Given the description of an element on the screen output the (x, y) to click on. 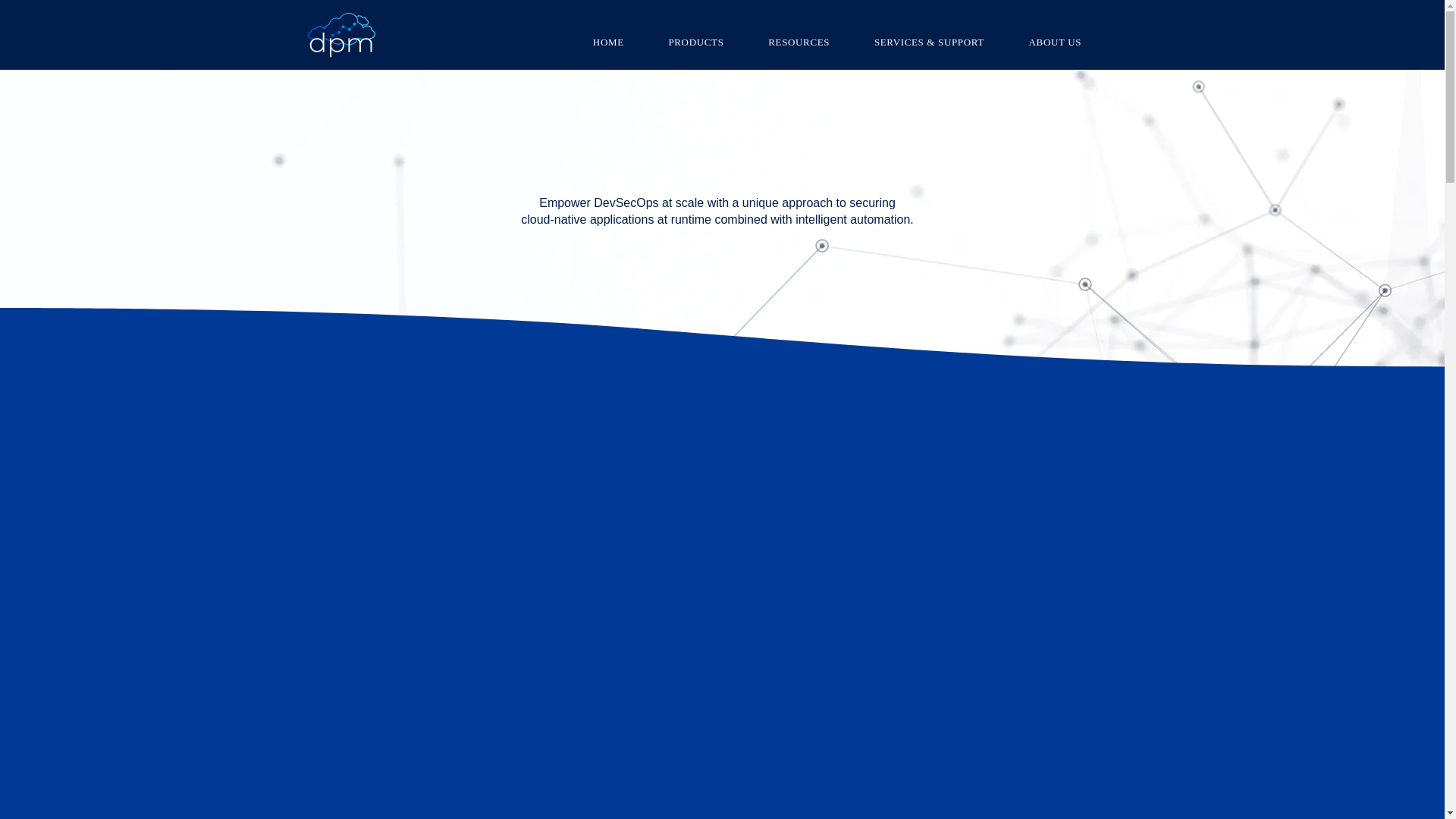
ABOUT US (1054, 42)
HOME (608, 42)
